Given the description of an element on the screen output the (x, y) to click on. 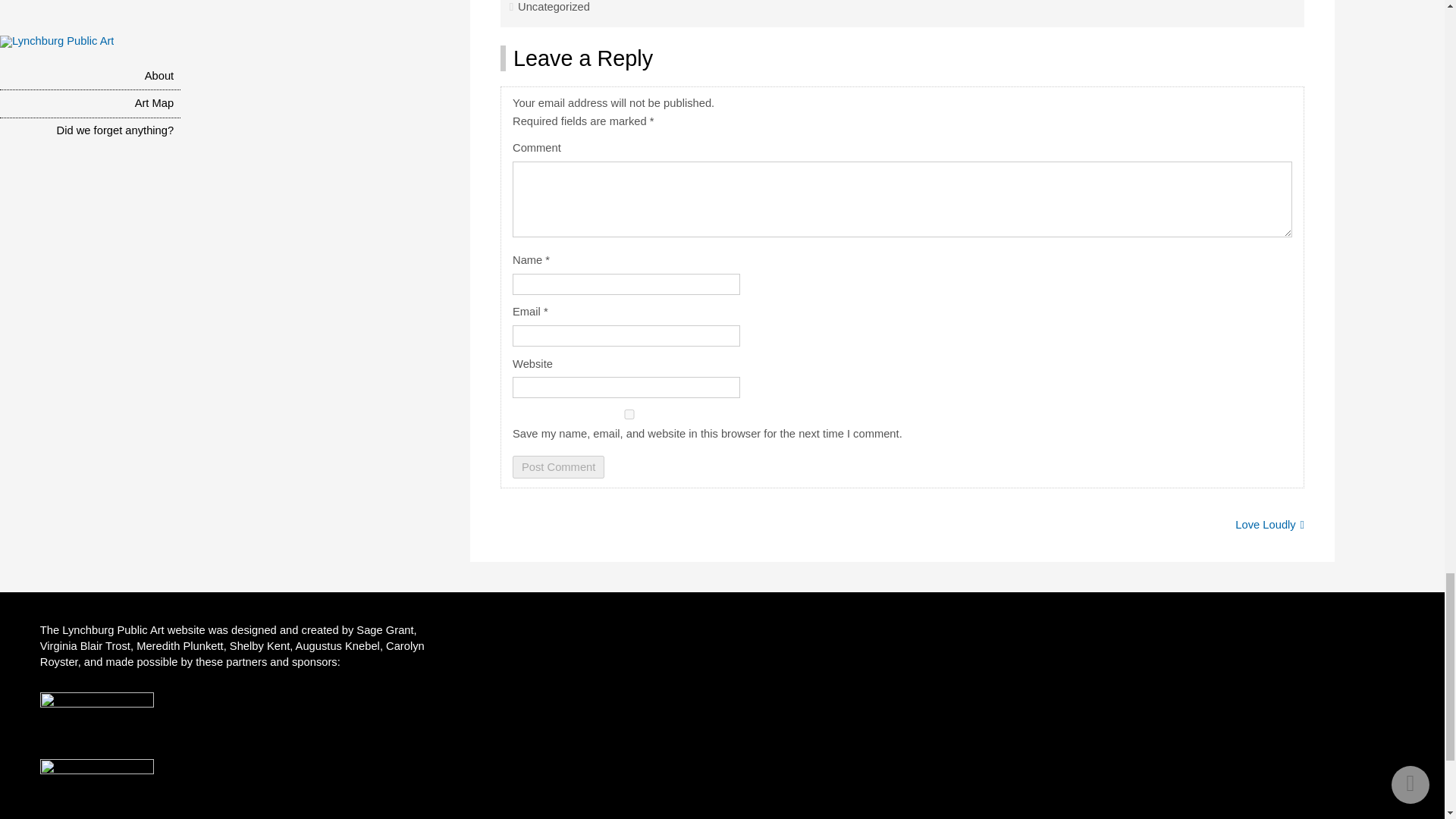
Uncategorized (553, 6)
Post Comment (558, 466)
yes (628, 414)
Post Comment (558, 466)
Love Loudly (1269, 524)
